Given the description of an element on the screen output the (x, y) to click on. 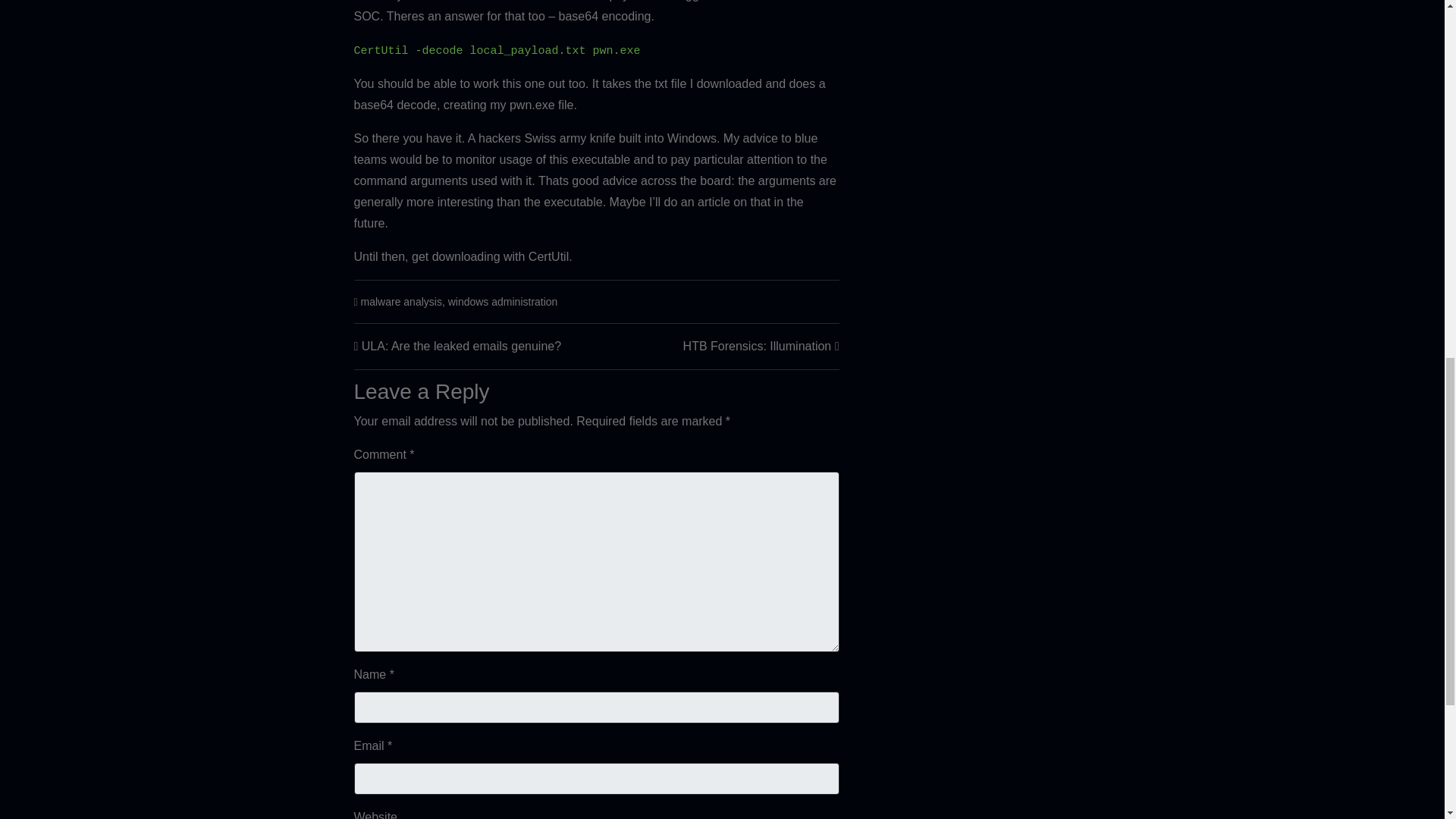
windows administration (502, 301)
HTB Forensics: Illumination (756, 345)
ULA: Are the leaked emails genuine? (460, 345)
malware analysis (401, 301)
